Given the description of an element on the screen output the (x, y) to click on. 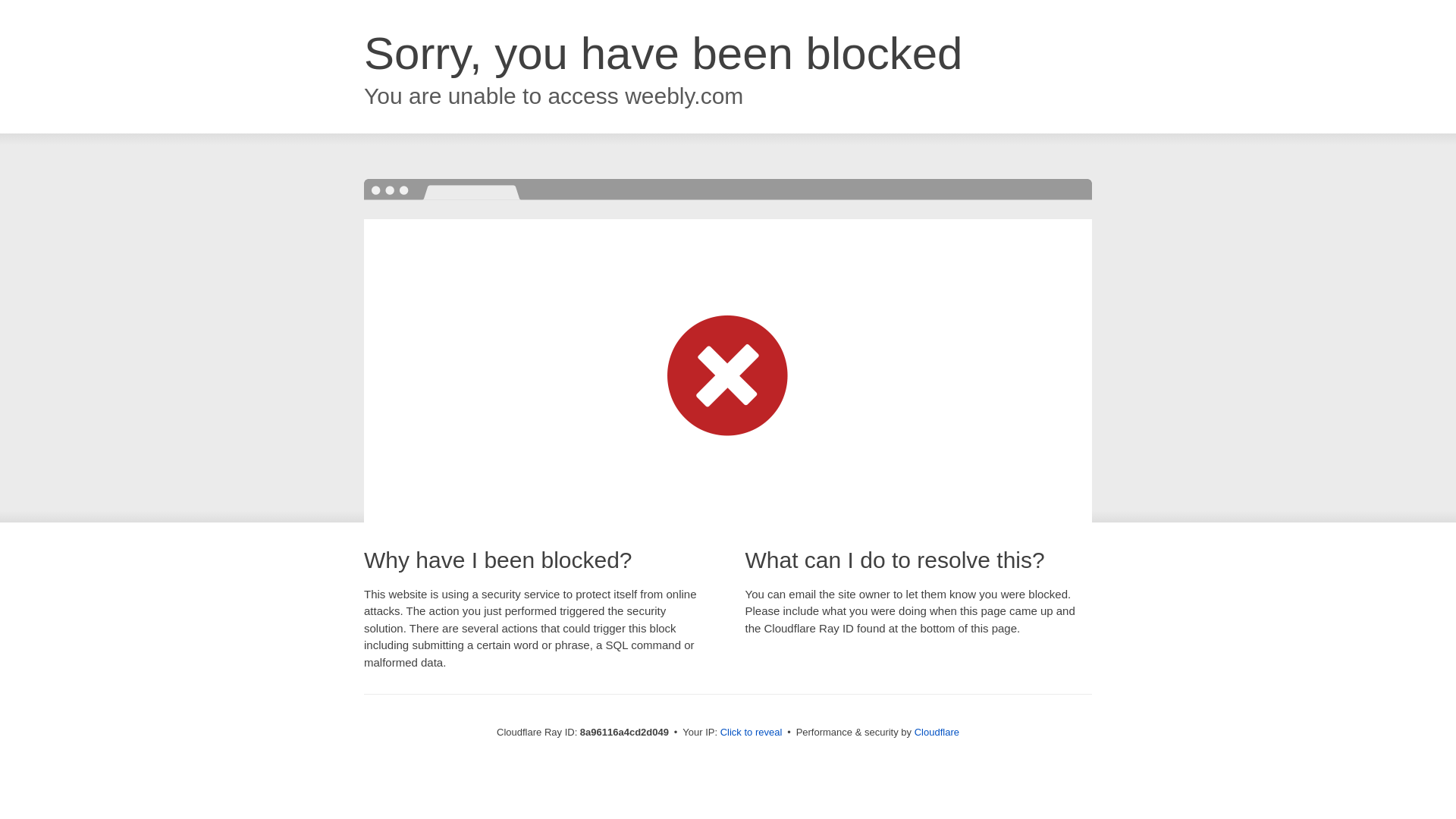
Cloudflare (936, 731)
Click to reveal (751, 732)
